Given the description of an element on the screen output the (x, y) to click on. 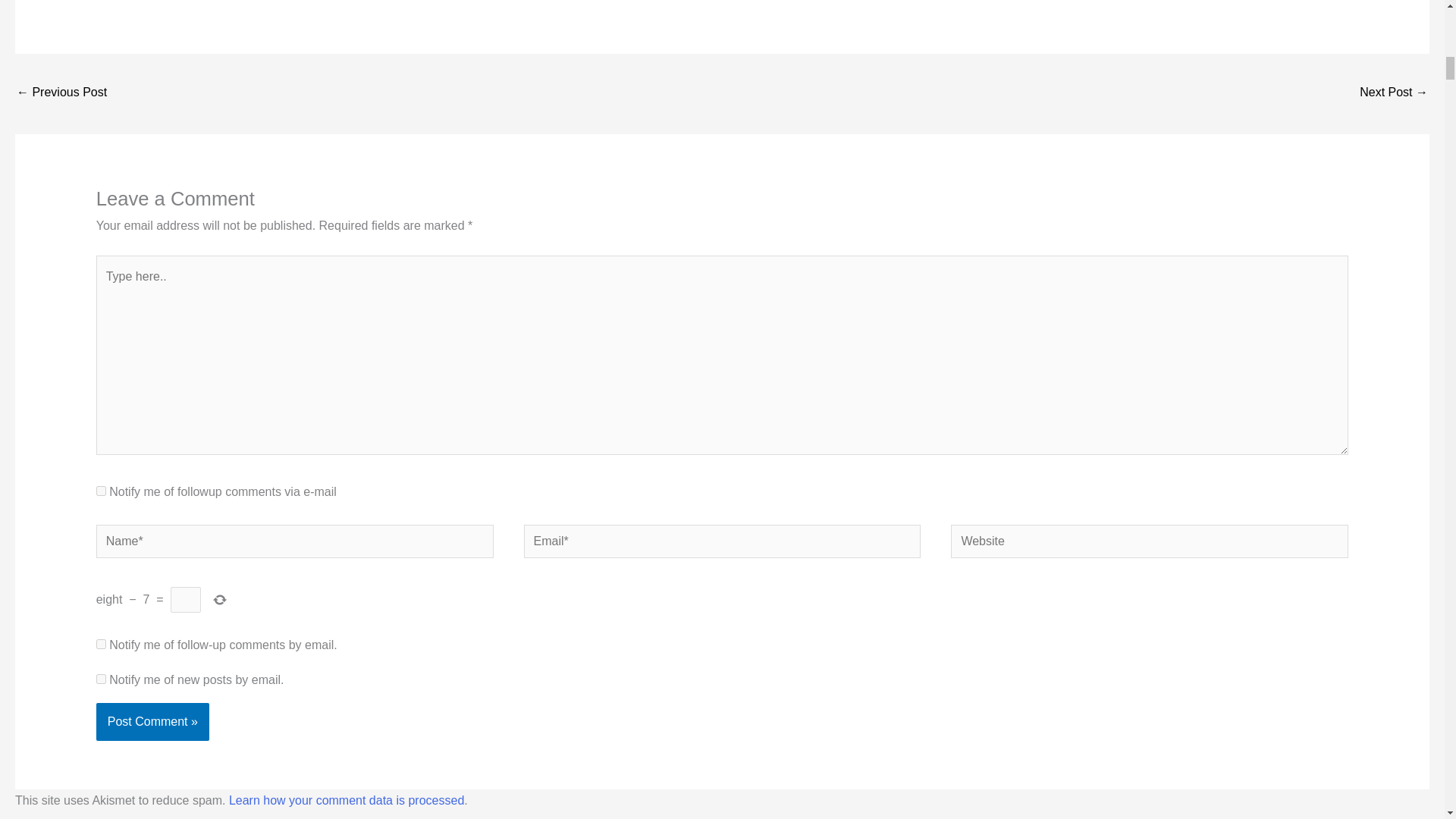
subscribe (101, 491)
subscribe (101, 678)
Learn how your comment data is processed (346, 799)
subscribe (101, 644)
